Given the description of an element on the screen output the (x, y) to click on. 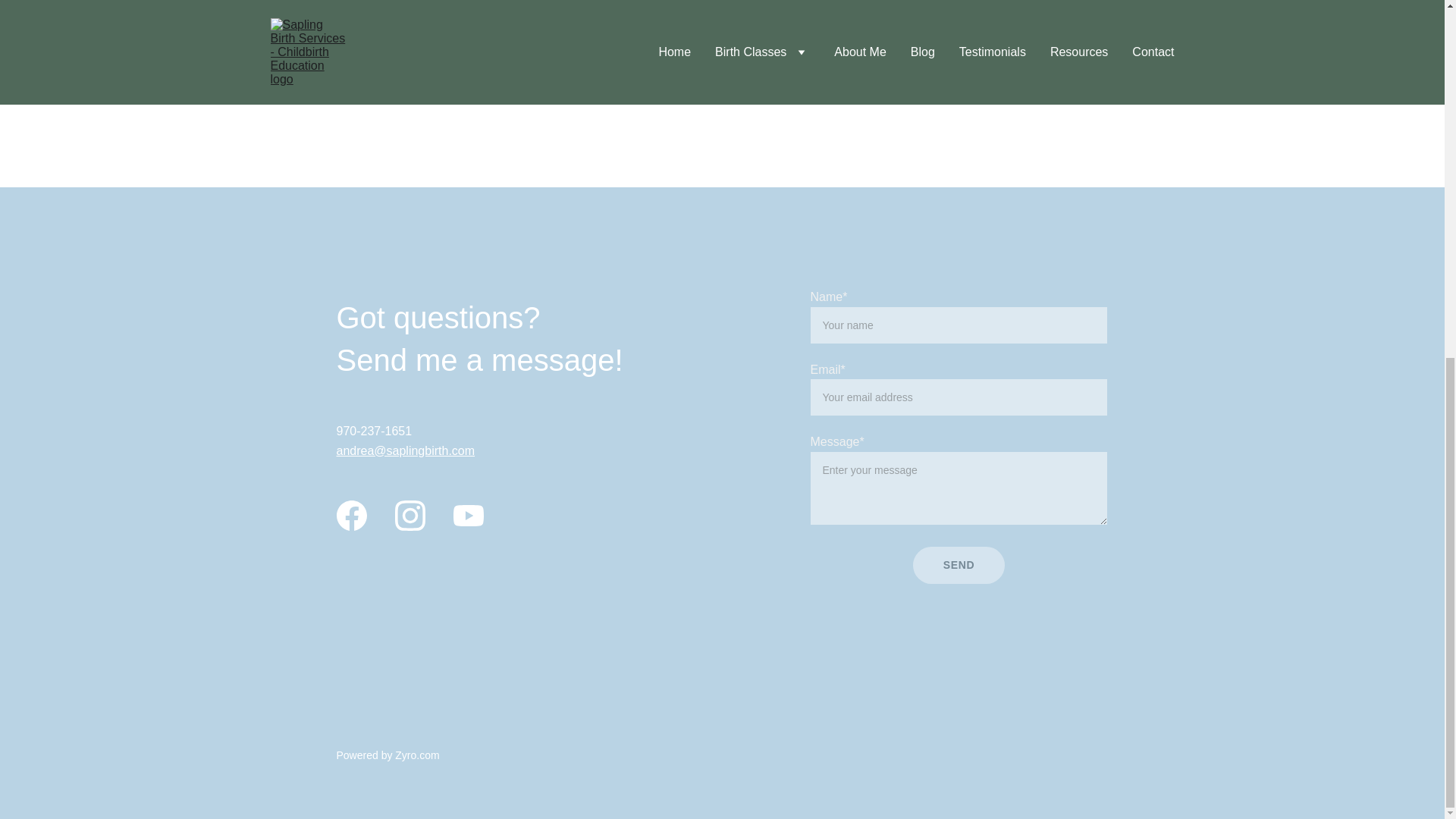
Go to Facebook page (351, 515)
SEND (959, 565)
Go to Instagram page (409, 515)
Go to Youtube page (467, 515)
